Given the description of an element on the screen output the (x, y) to click on. 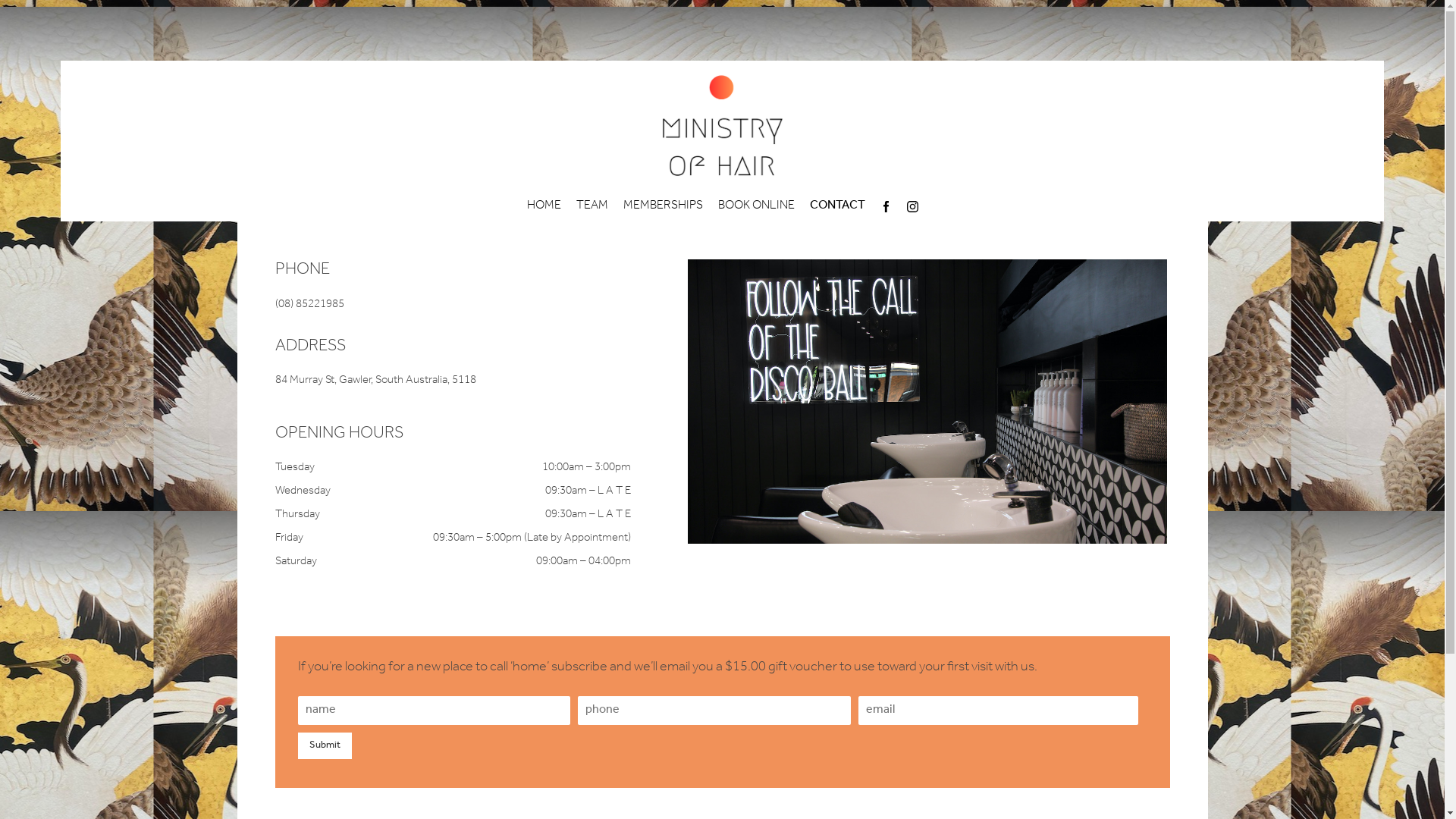
Submit Element type: text (324, 745)
HOME Element type: text (542, 206)
BOOK ONLINE Element type: text (755, 206)
MEMBERSHIPS Element type: text (662, 206)
TEAM Element type: text (591, 206)
CONTACT Element type: text (837, 206)
